Given the description of an element on the screen output the (x, y) to click on. 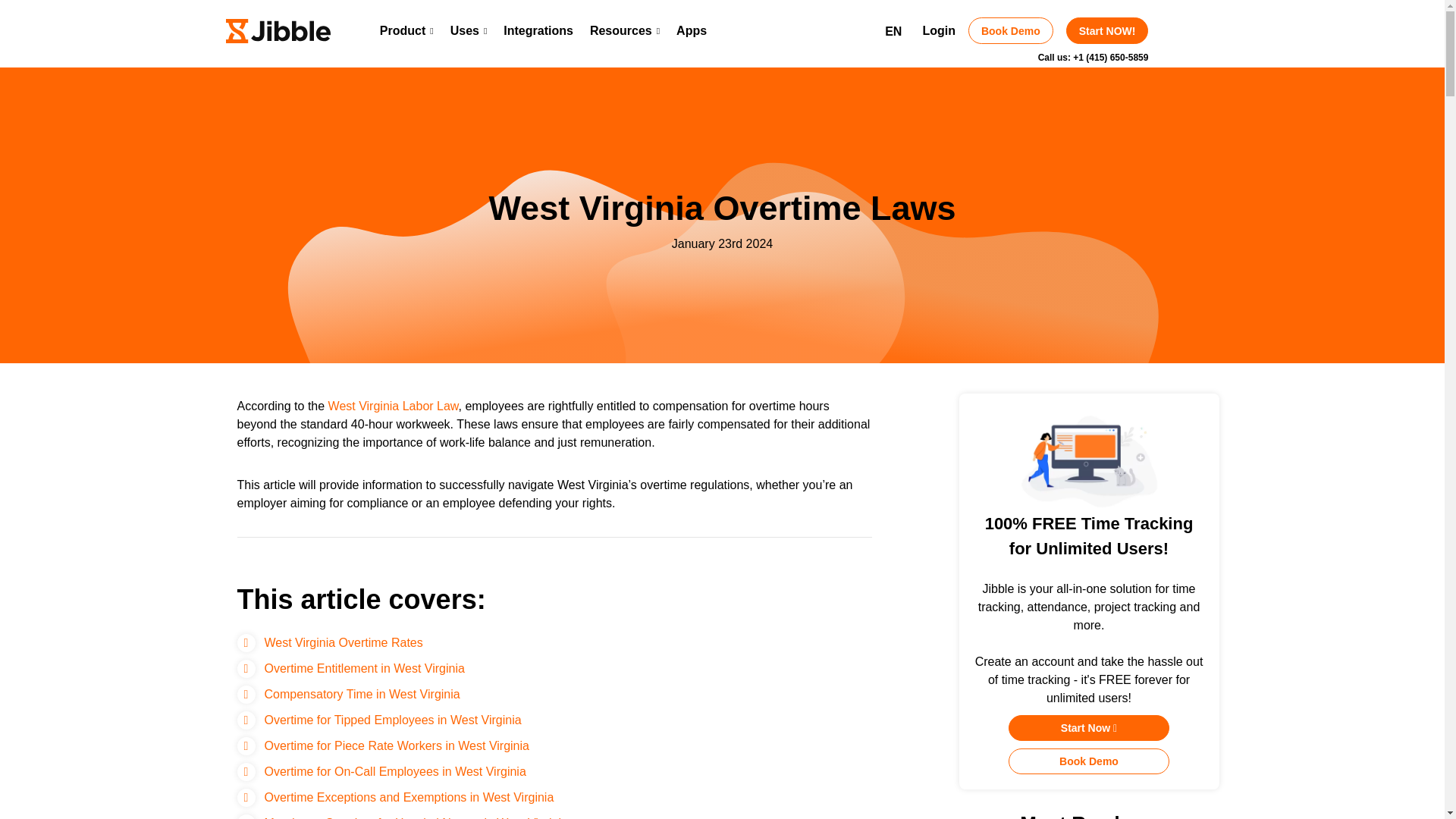
Product (406, 30)
Uses (468, 30)
Jibble (277, 30)
